Given the description of an element on the screen output the (x, y) to click on. 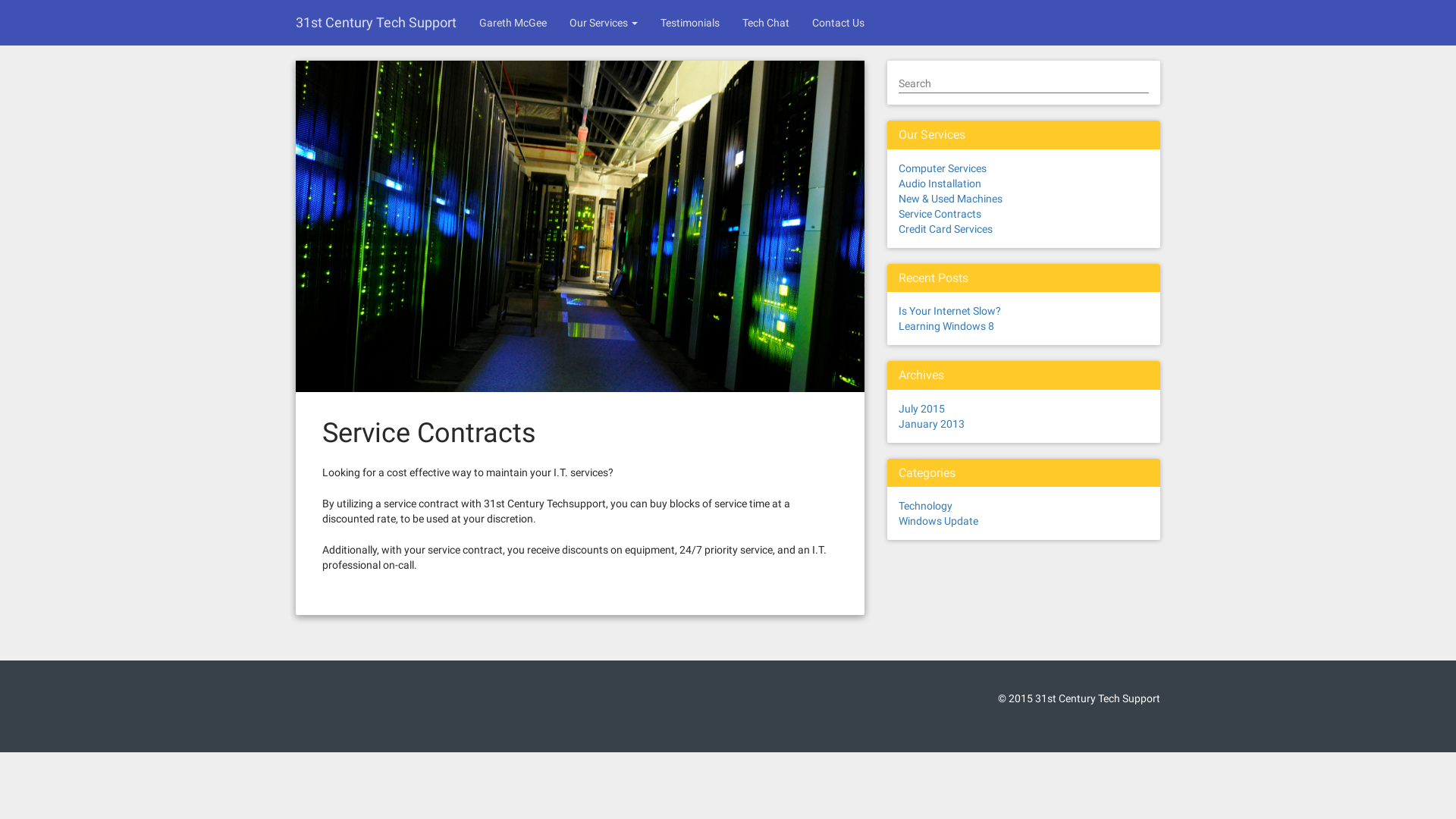
January 2013 Element type: text (931, 423)
New & Used Machines Element type: text (950, 198)
Tech Chat Element type: text (765, 22)
Service Contracts Element type: text (939, 213)
Credit Card Services Element type: text (945, 228)
July 2015 Element type: text (921, 408)
Testimonials Element type: text (690, 22)
Computer Services Element type: text (942, 168)
Contact Us Element type: text (837, 22)
Windows Update Element type: text (938, 520)
31st Century Tech Support Element type: text (375, 22)
Our Services Element type: text (603, 22)
Is Your Internet Slow? Element type: text (949, 310)
Skip to content Element type: text (0, 0)
Audio Installation Element type: text (939, 183)
Gareth McGee Element type: text (512, 22)
Learning Windows 8 Element type: text (946, 326)
Technology Element type: text (925, 505)
